Given the description of an element on the screen output the (x, y) to click on. 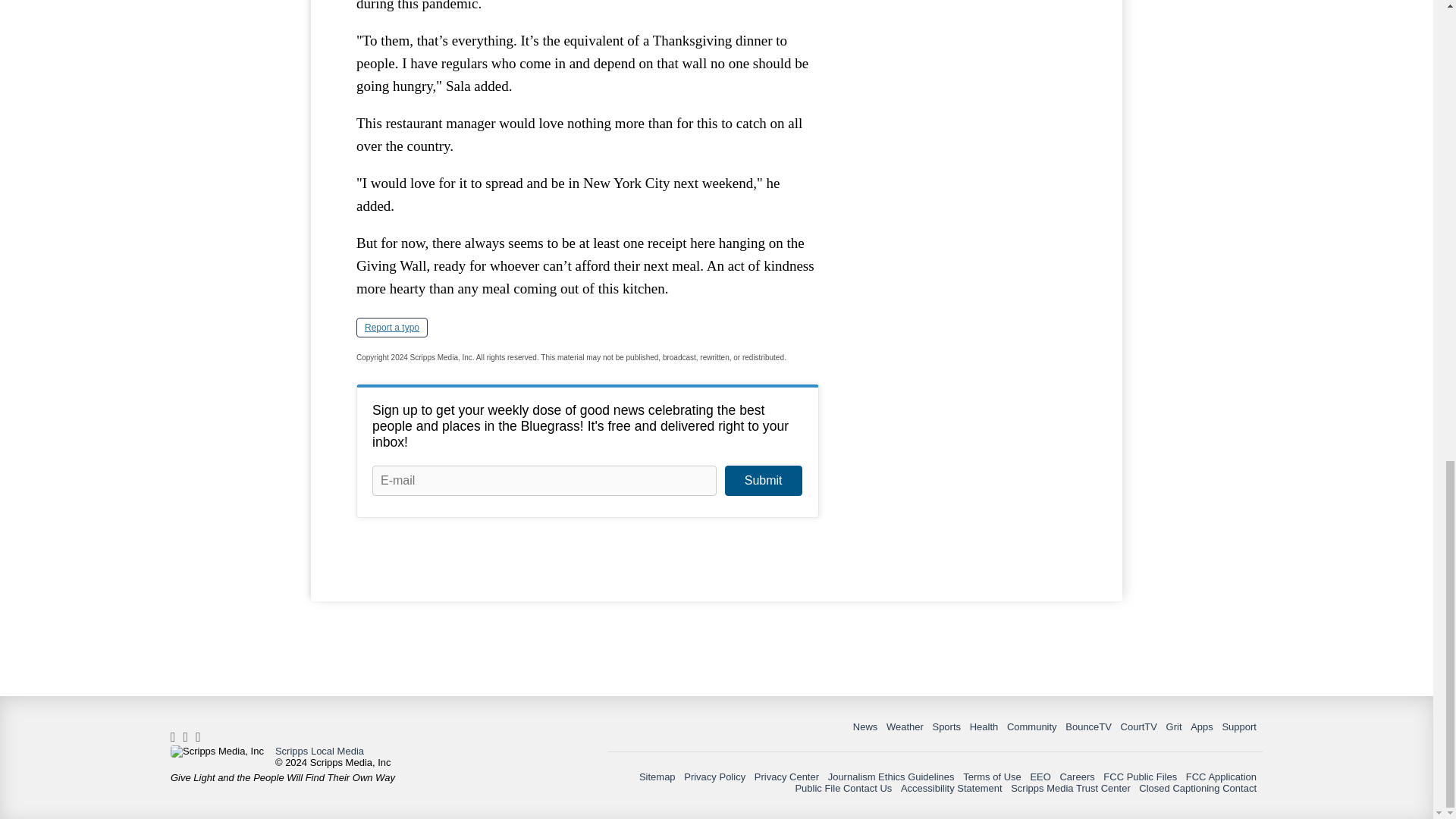
Submit (763, 481)
